Given the description of an element on the screen output the (x, y) to click on. 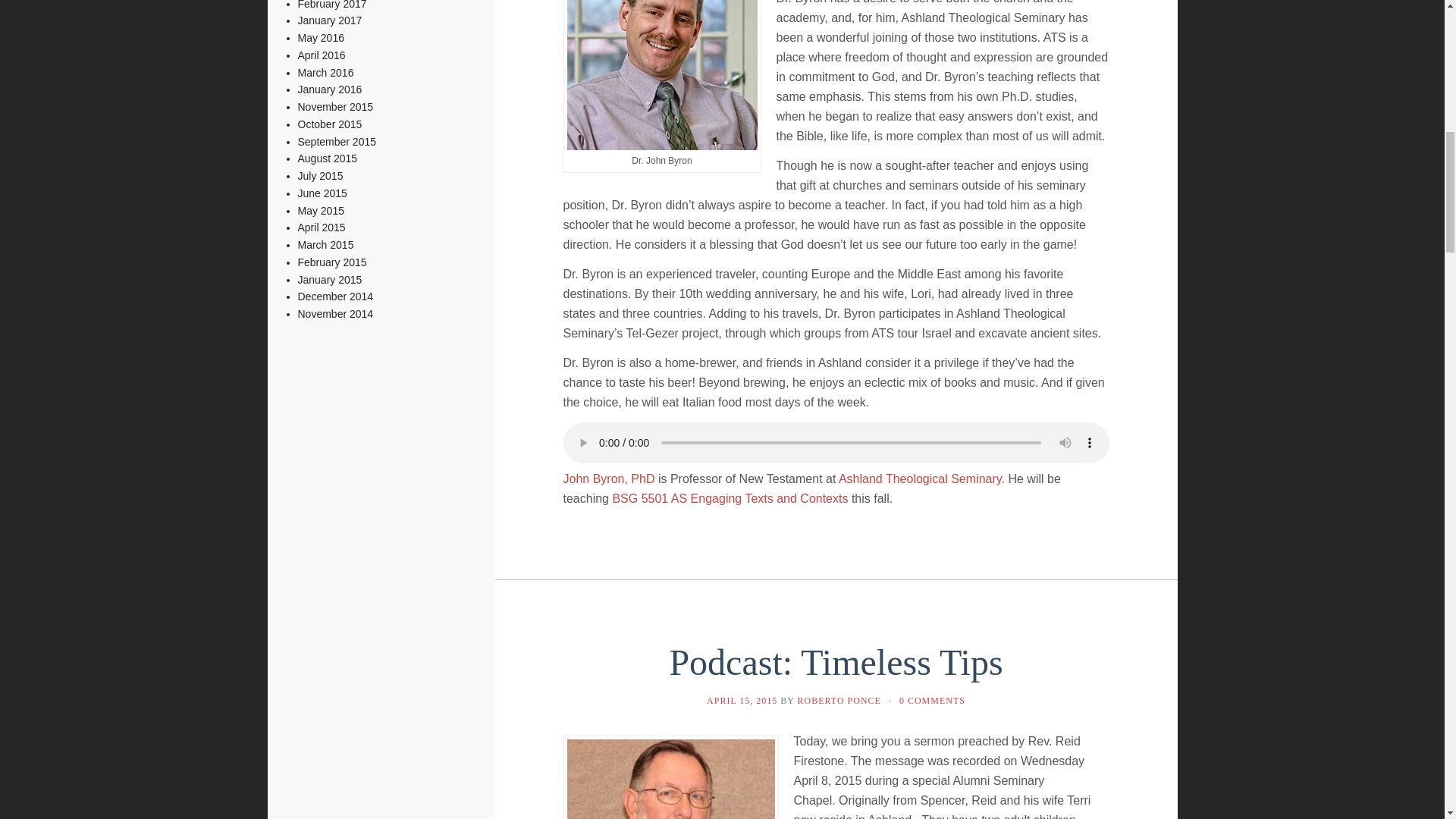
Permalink to Podcast: Timeless Tips (835, 662)
October 2015 (329, 123)
May 2016 (320, 37)
September 2015 (336, 141)
March 2016 (325, 72)
April 2016 (321, 55)
August 2015 (326, 158)
February 2017 (331, 4)
November 2015 (334, 106)
July 2015 (319, 175)
